Given the description of an element on the screen output the (x, y) to click on. 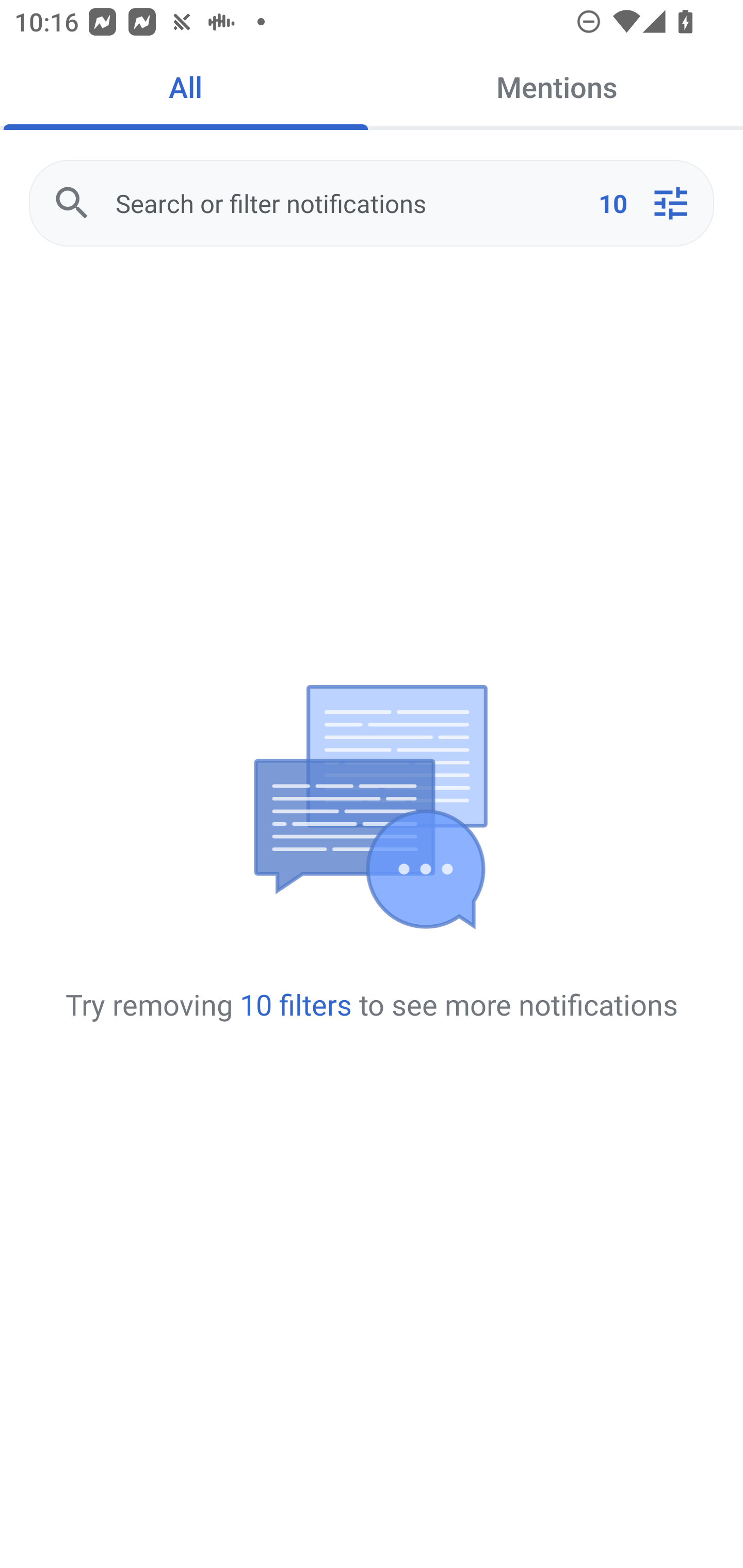
Mentions (557, 86)
Notification filter (670, 202)
